Given the description of an element on the screen output the (x, y) to click on. 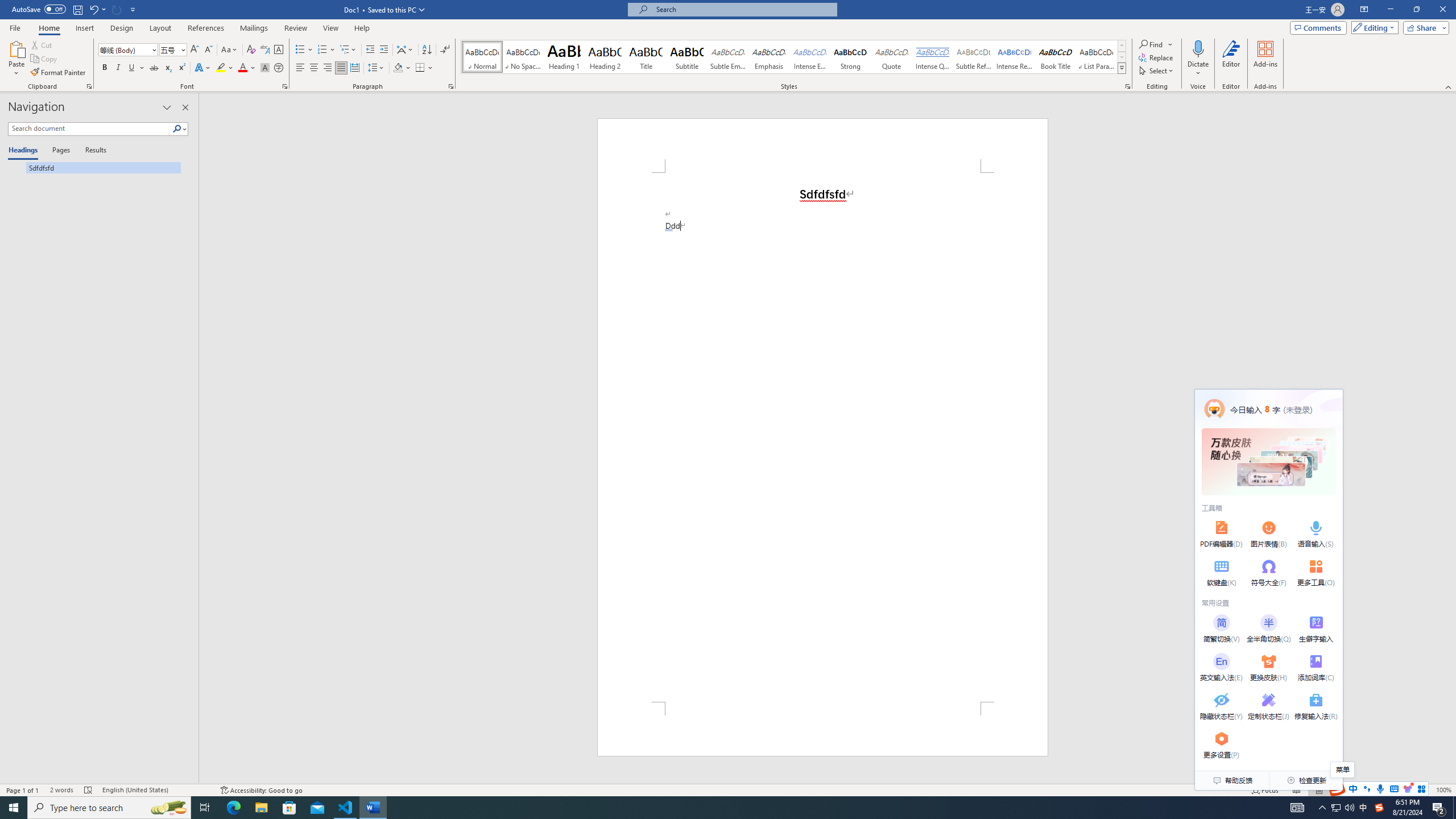
Sdfdfsfd (94, 167)
Can't Repeat (117, 9)
Intense Quote (932, 56)
